Given the description of an element on the screen output the (x, y) to click on. 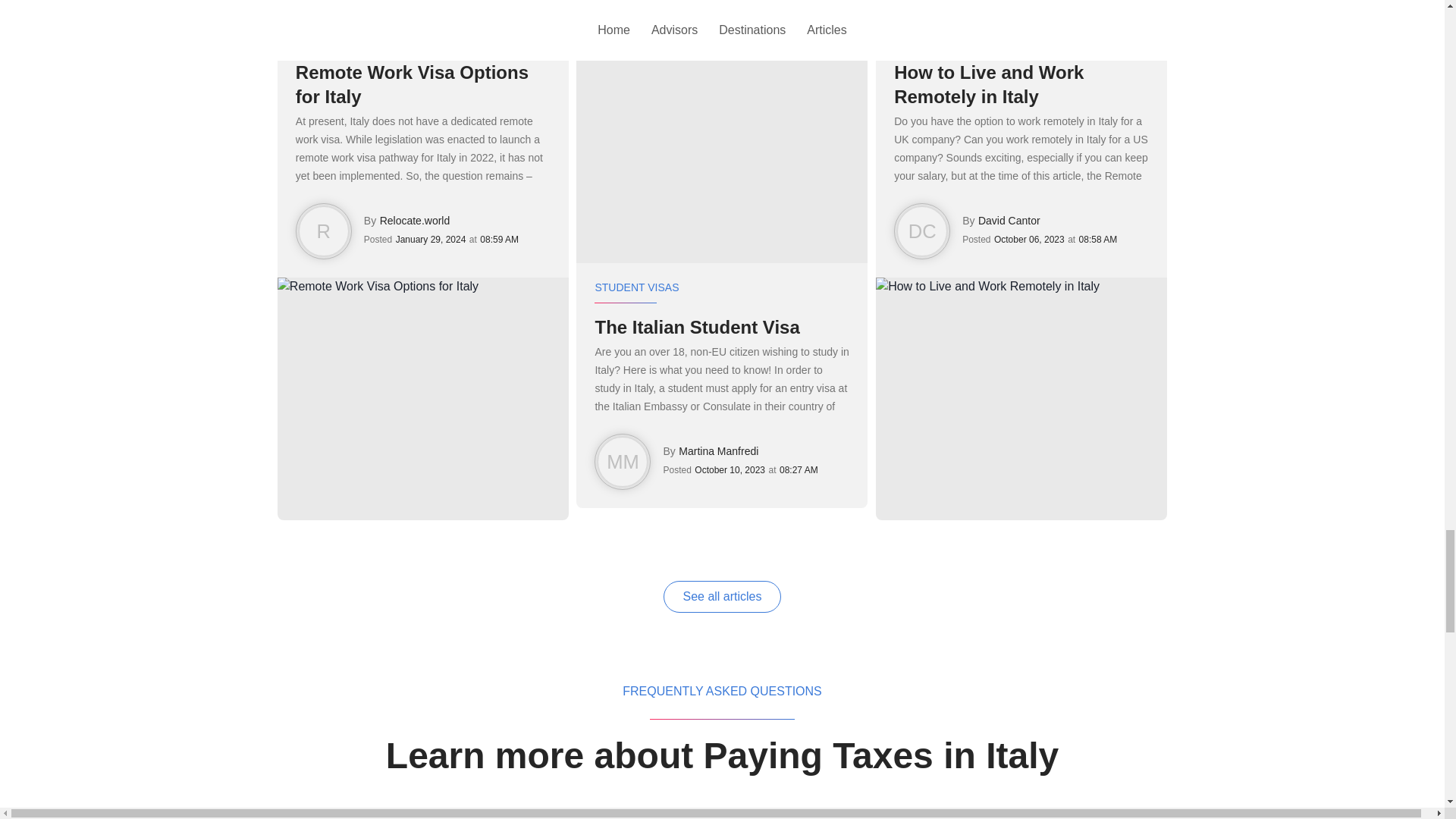
See all articles (721, 596)
The Italian Student Visa (721, 327)
How to Live and Work Remotely in Italy (1020, 84)
Remote Work Visa Options for Italy (422, 84)
